Given the description of an element on the screen output the (x, y) to click on. 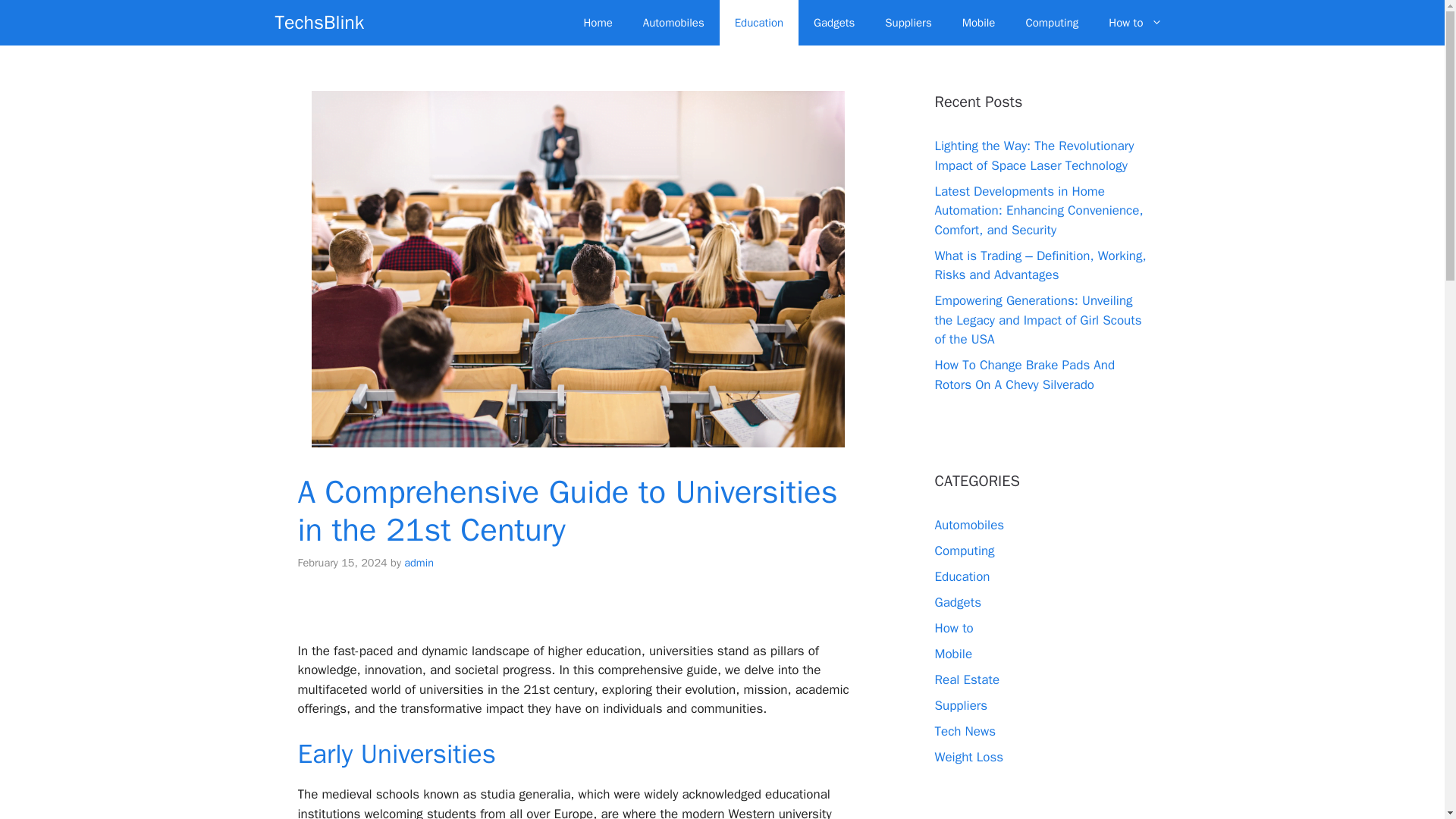
Education (962, 576)
Computing (964, 550)
TechsBlink (319, 23)
Suppliers (907, 22)
Suppliers (960, 705)
Mobile (953, 653)
Tech News (964, 731)
Automobiles (969, 524)
